Given the description of an element on the screen output the (x, y) to click on. 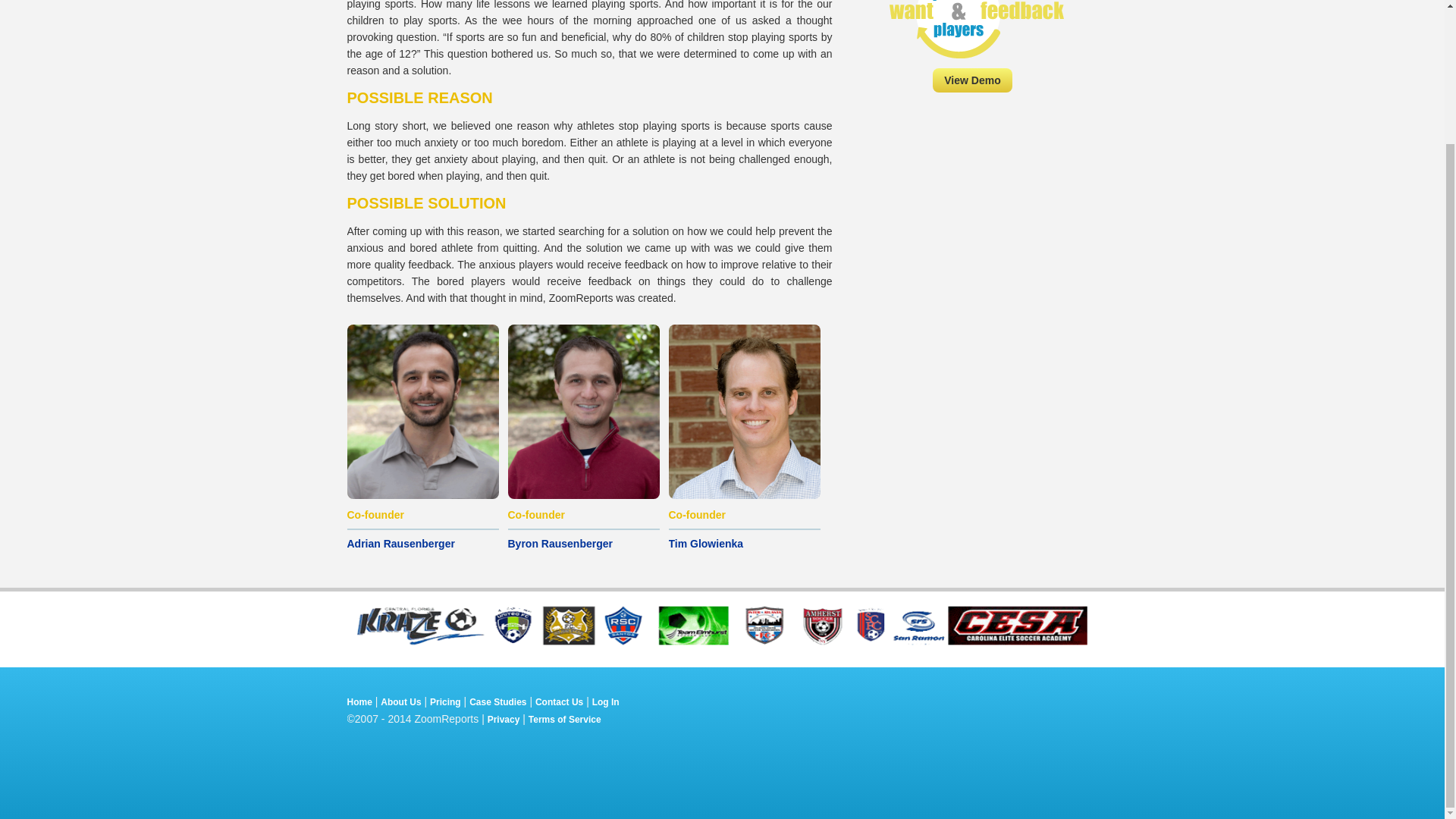
Log In (606, 701)
Case Studies (496, 701)
Contact Us (559, 701)
View Demo (972, 79)
Terms of Service (564, 719)
About Us (400, 701)
Pricing (445, 701)
Privacy (503, 719)
Home (359, 701)
